Given the description of an element on the screen output the (x, y) to click on. 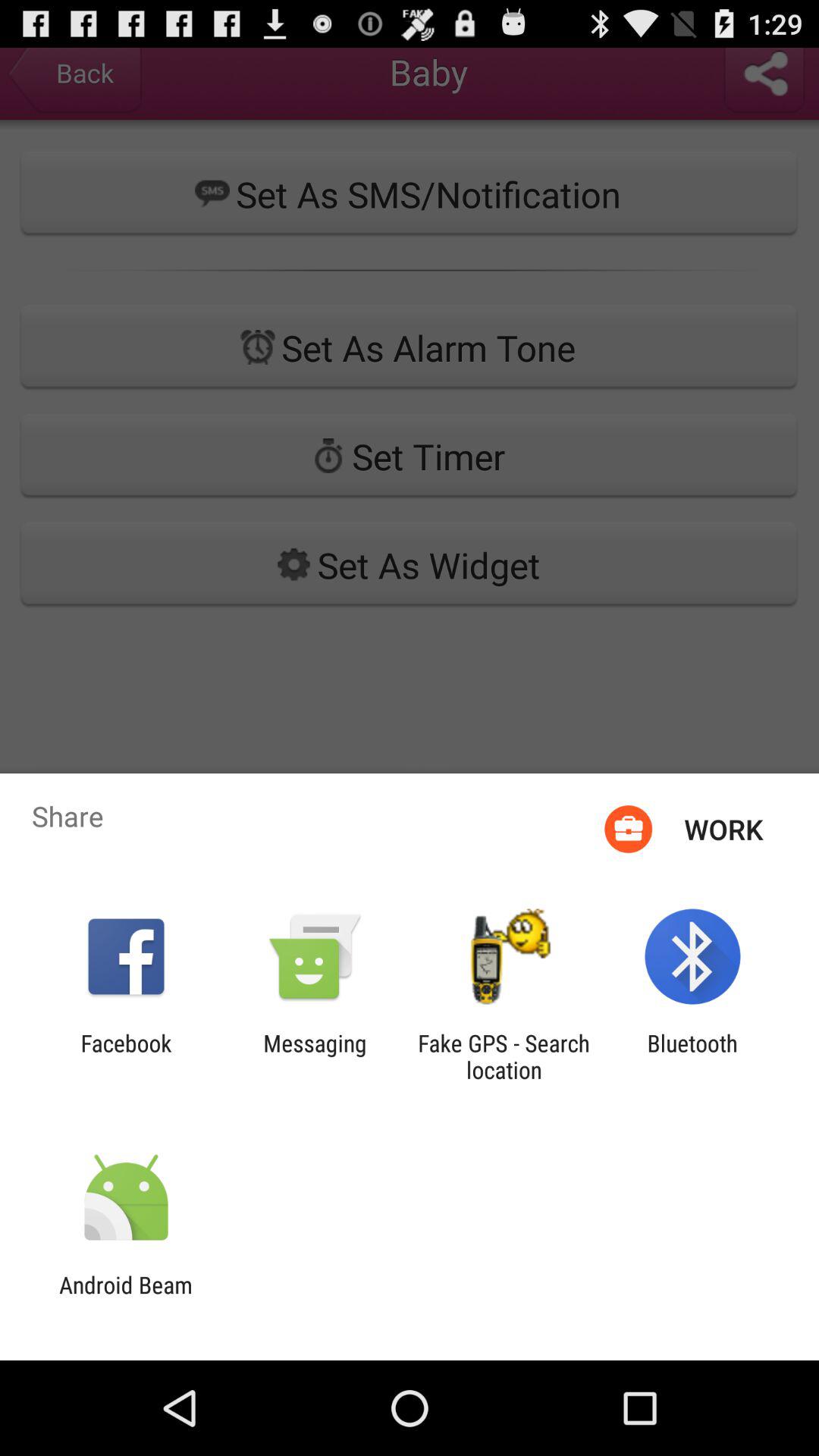
open bluetooth item (692, 1056)
